Given the description of an element on the screen output the (x, y) to click on. 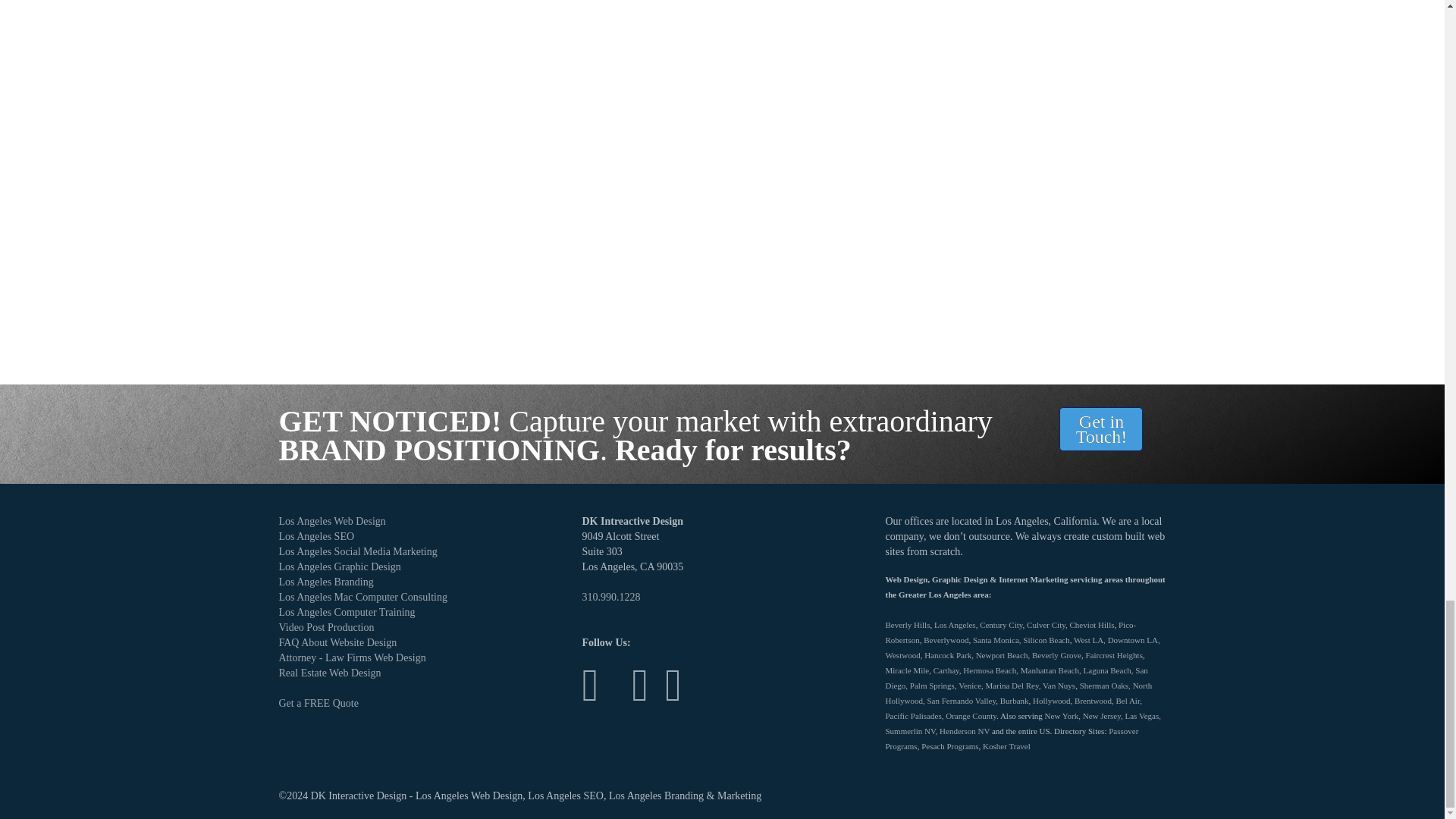
Los Angeles Social Media Marketing  (360, 551)
Los Angeles SEO (317, 536)
Los Angeles Graphic Design  (341, 566)
Get in Touch! (1100, 429)
Los Angeles Web Design (332, 521)
